Given the description of an element on the screen output the (x, y) to click on. 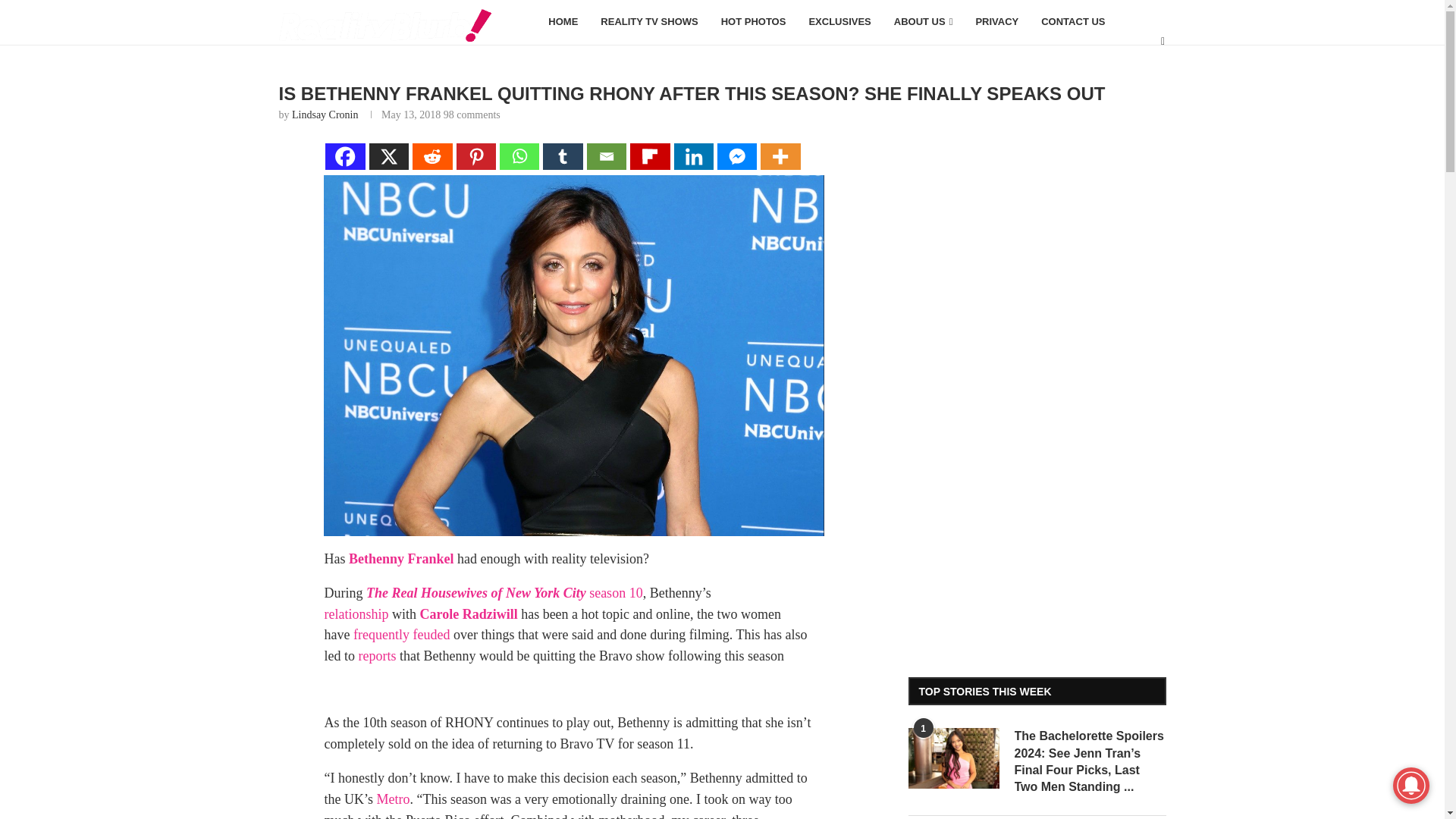
PRIVACY (996, 22)
Bethenny Frankel (401, 558)
Metro (392, 798)
Flipboard (649, 156)
Facebook (344, 156)
reports (377, 655)
Reddit (432, 156)
More (780, 156)
EXCLUSIVES (839, 22)
ABOUT US (922, 22)
Linkedin (694, 156)
Tumblr (563, 156)
98 comments (472, 114)
HOME (563, 22)
Facebook Messenger (737, 156)
